Given the description of an element on the screen output the (x, y) to click on. 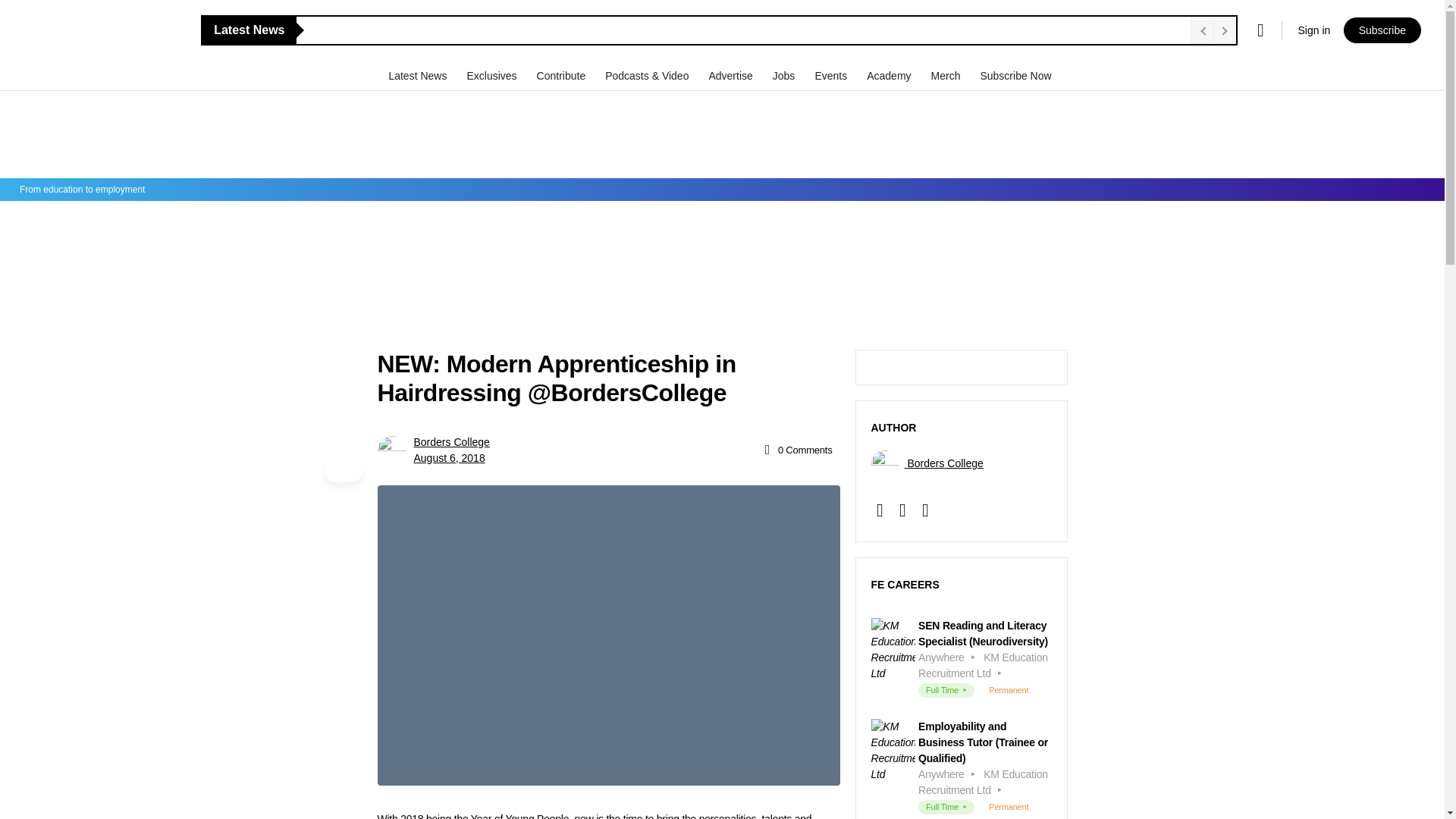
Latest News (419, 75)
Exclusives (493, 75)
Sign in (1313, 30)
Subscribe (1382, 30)
